Given the description of an element on the screen output the (x, y) to click on. 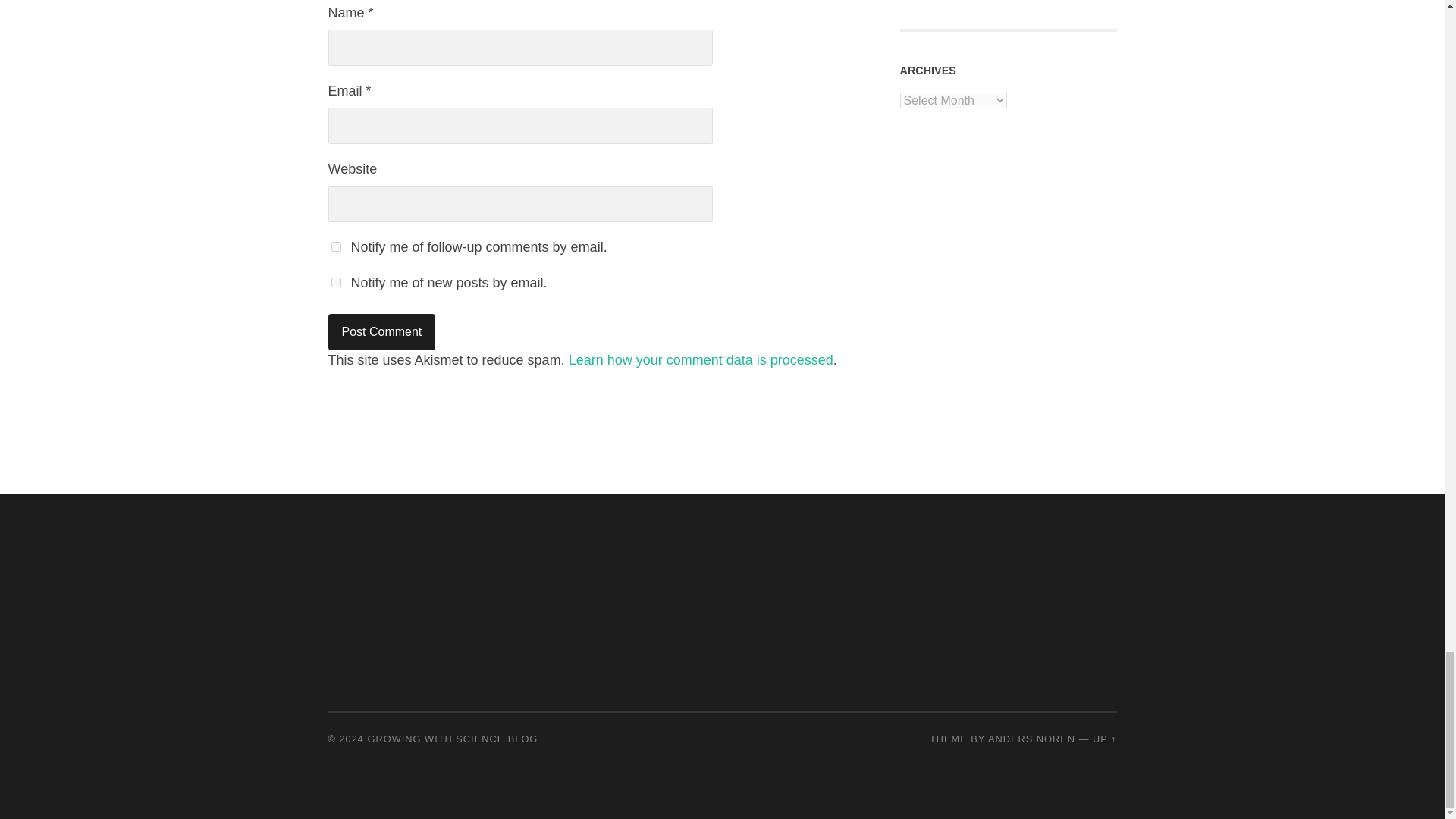
subscribe (335, 246)
To the top (1104, 738)
subscribe (335, 282)
Post Comment (381, 331)
